Given the description of an element on the screen output the (x, y) to click on. 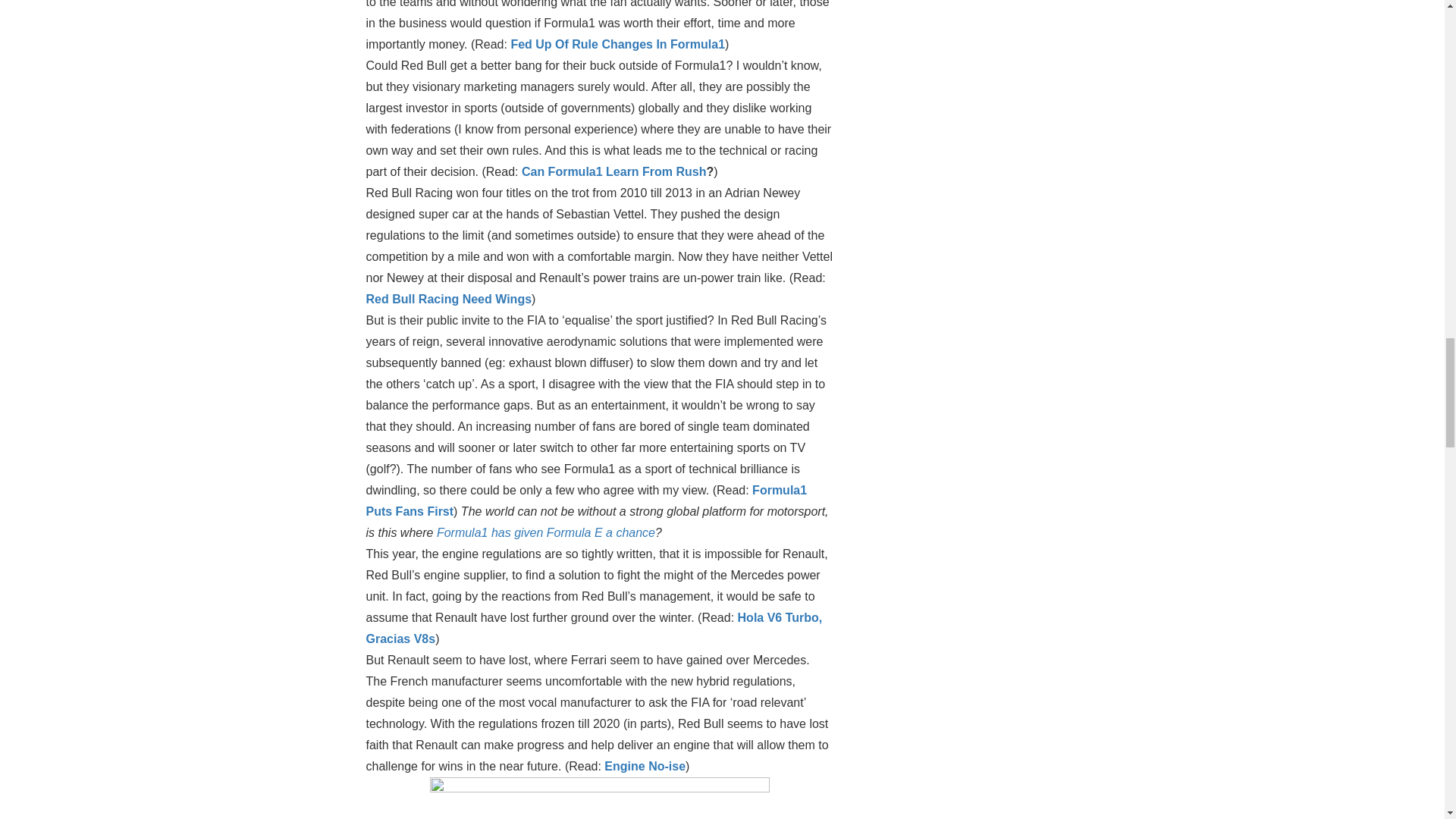
Can Formula1 Learn From Rush (613, 171)
Fed Up Of Rule Changes In Formula1 (618, 43)
Engine No-ise (644, 766)
Formula1 Puts Fans First (585, 500)
Hola V6 Turbo, Gracias V8s (593, 627)
Red Bull Racing Need Wings (448, 298)
Sebastian Vettel - 2013 Indian Grand Prix (599, 798)
Formula1 has given Formula E a chance (545, 532)
